Given the description of an element on the screen output the (x, y) to click on. 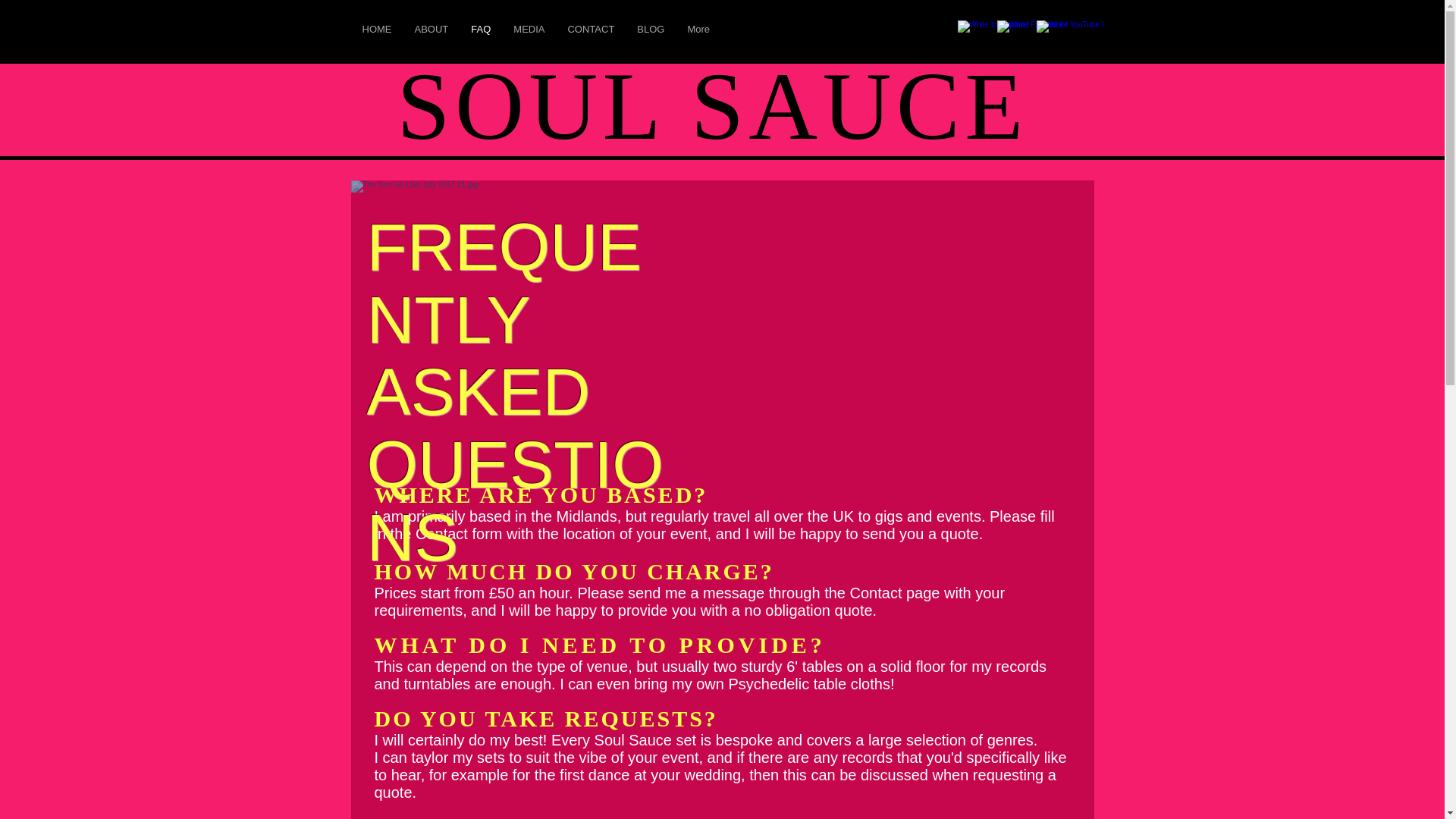
MEDIA (529, 39)
SOUL SAUCE (712, 106)
ABOUT (431, 39)
CONTACT (591, 39)
FAQ (481, 39)
BLOG (650, 39)
HOME (376, 39)
